Given the description of an element on the screen output the (x, y) to click on. 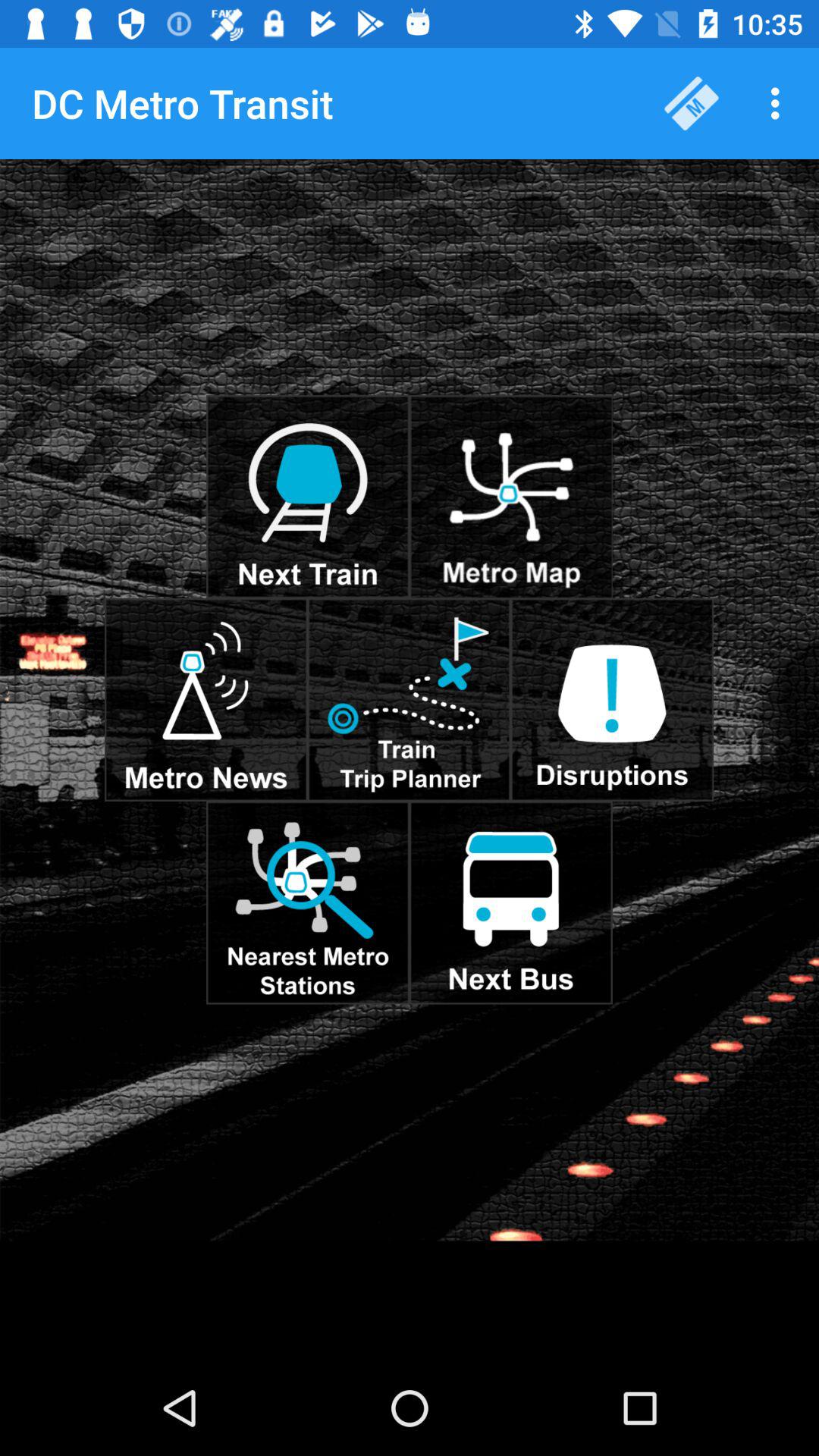
choose the item below dc metro transit item (43, 202)
